Given the description of an element on the screen output the (x, y) to click on. 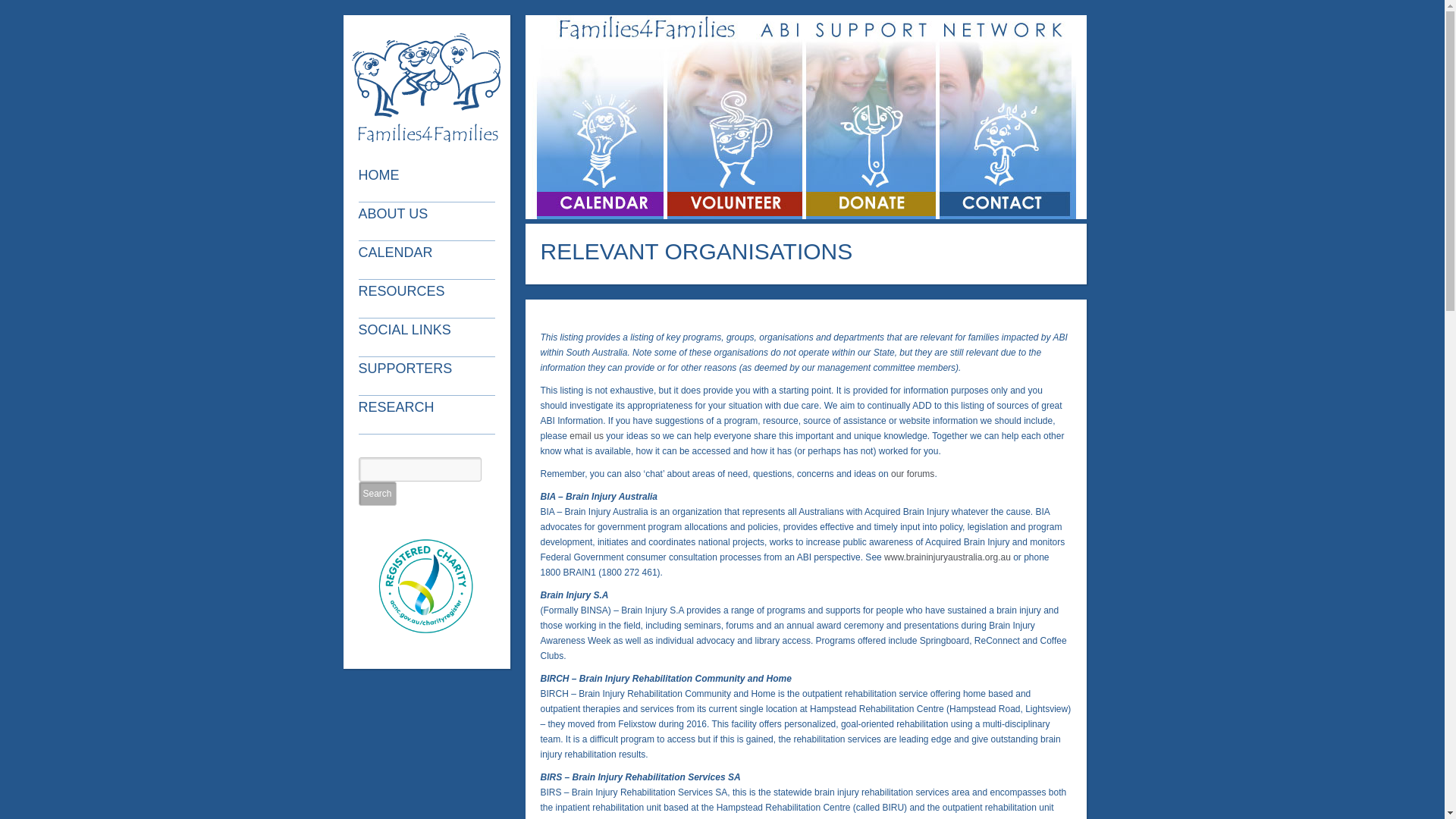
RESOURCES Element type: text (429, 298)
SOCIAL LINKS Element type: text (429, 337)
Search Element type: text (376, 493)
Families4Families ABI peer support network Element type: hover (426, 88)
RESEARCH Element type: text (429, 414)
www.braininjuryaustralia.org.au Element type: text (947, 557)
ABOUT US Element type: text (429, 221)
email us Element type: text (586, 435)
our forums Element type: text (912, 473)
HOME Element type: text (429, 182)
CALENDAR Element type: text (429, 259)
SUPPORTERS Element type: text (429, 375)
